Given the description of an element on the screen output the (x, y) to click on. 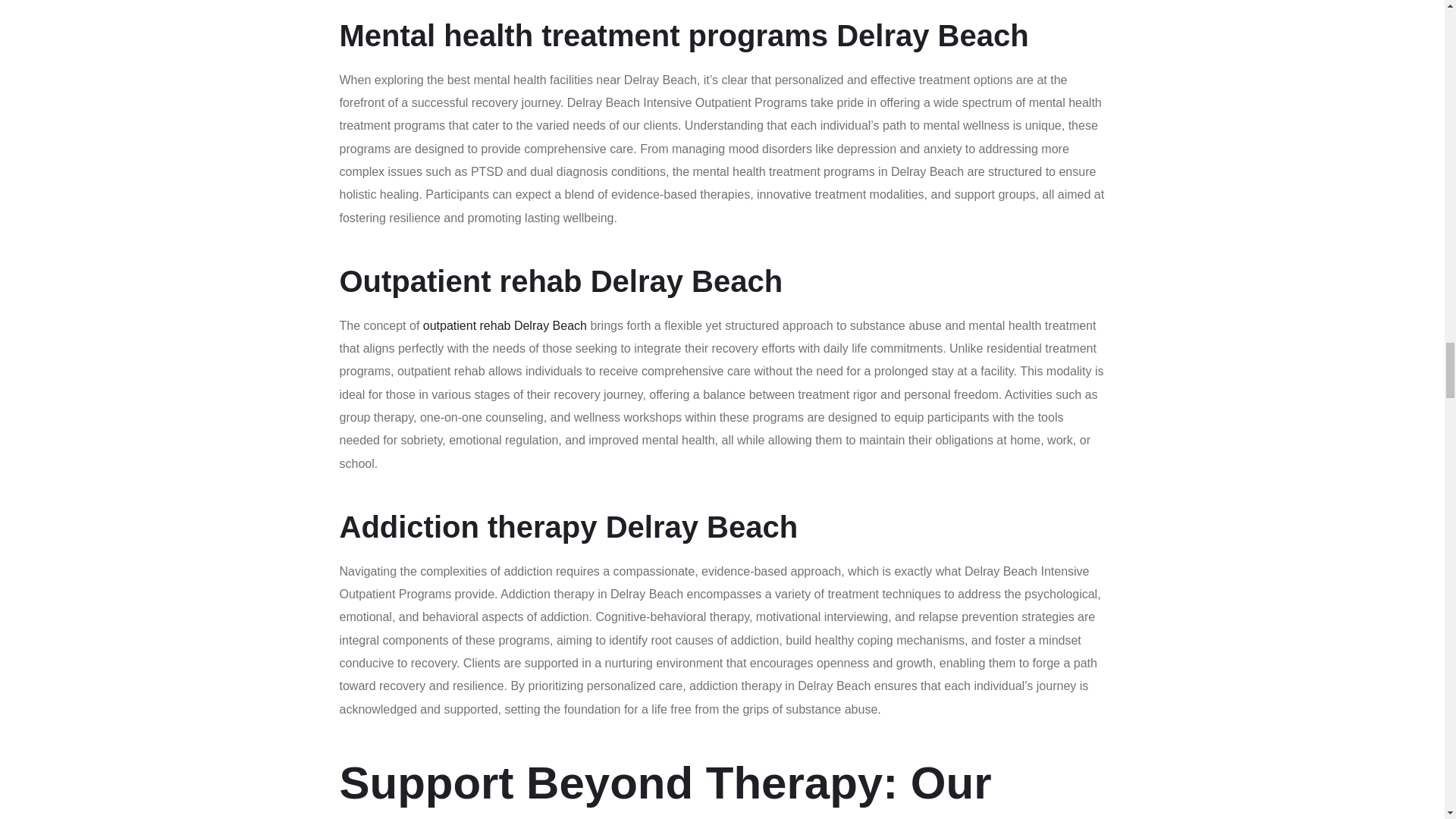
outpatient rehab Delray Beach (504, 325)
